Given the description of an element on the screen output the (x, y) to click on. 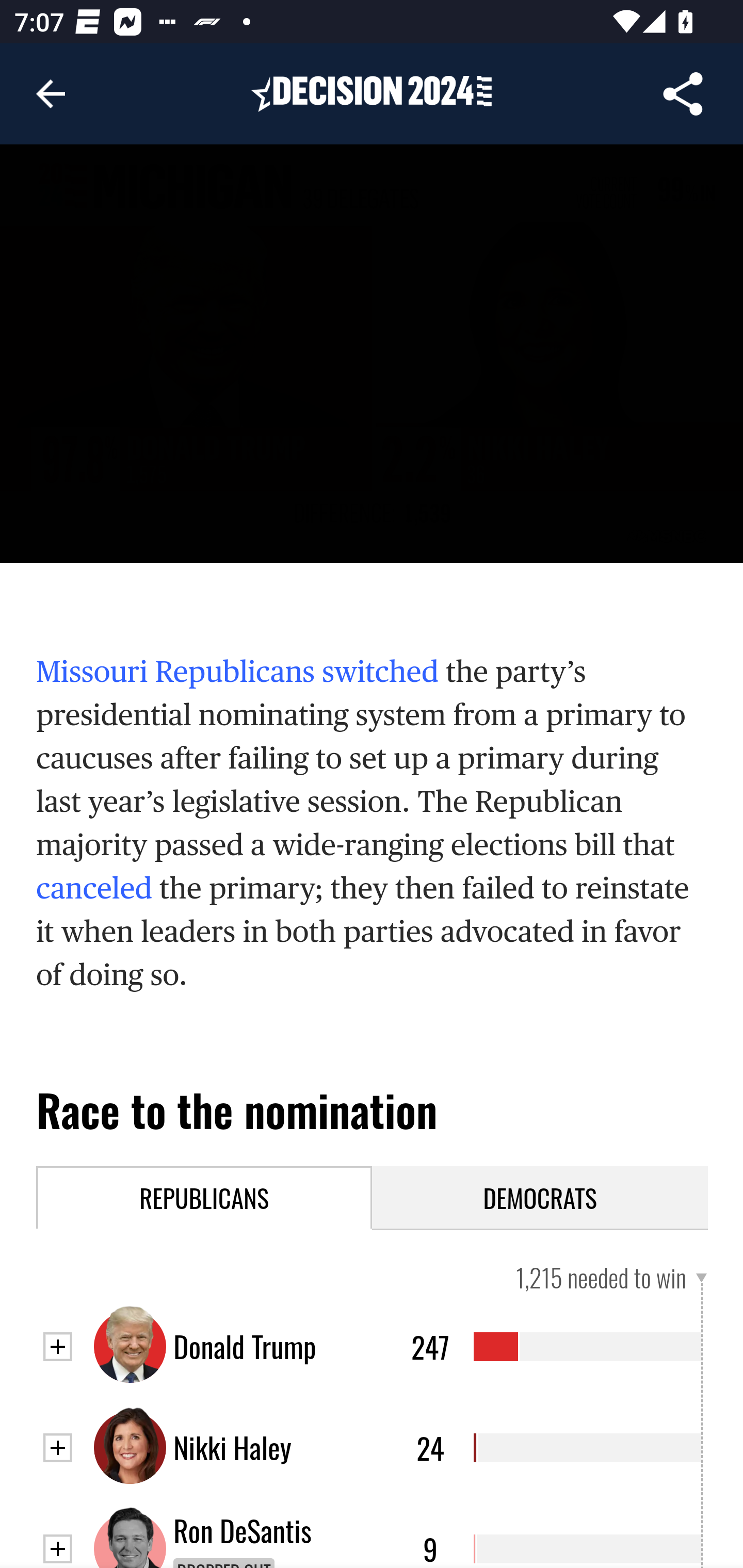
Navigate up (50, 93)
Share Article, button (683, 94)
Header, Decision 2024 (371, 93)
Missouri Republicans switched (238, 671)
canceled (94, 888)
REPUBLICANS (204, 1196)
DEMOCRATS (540, 1196)
